Given the description of an element on the screen output the (x, y) to click on. 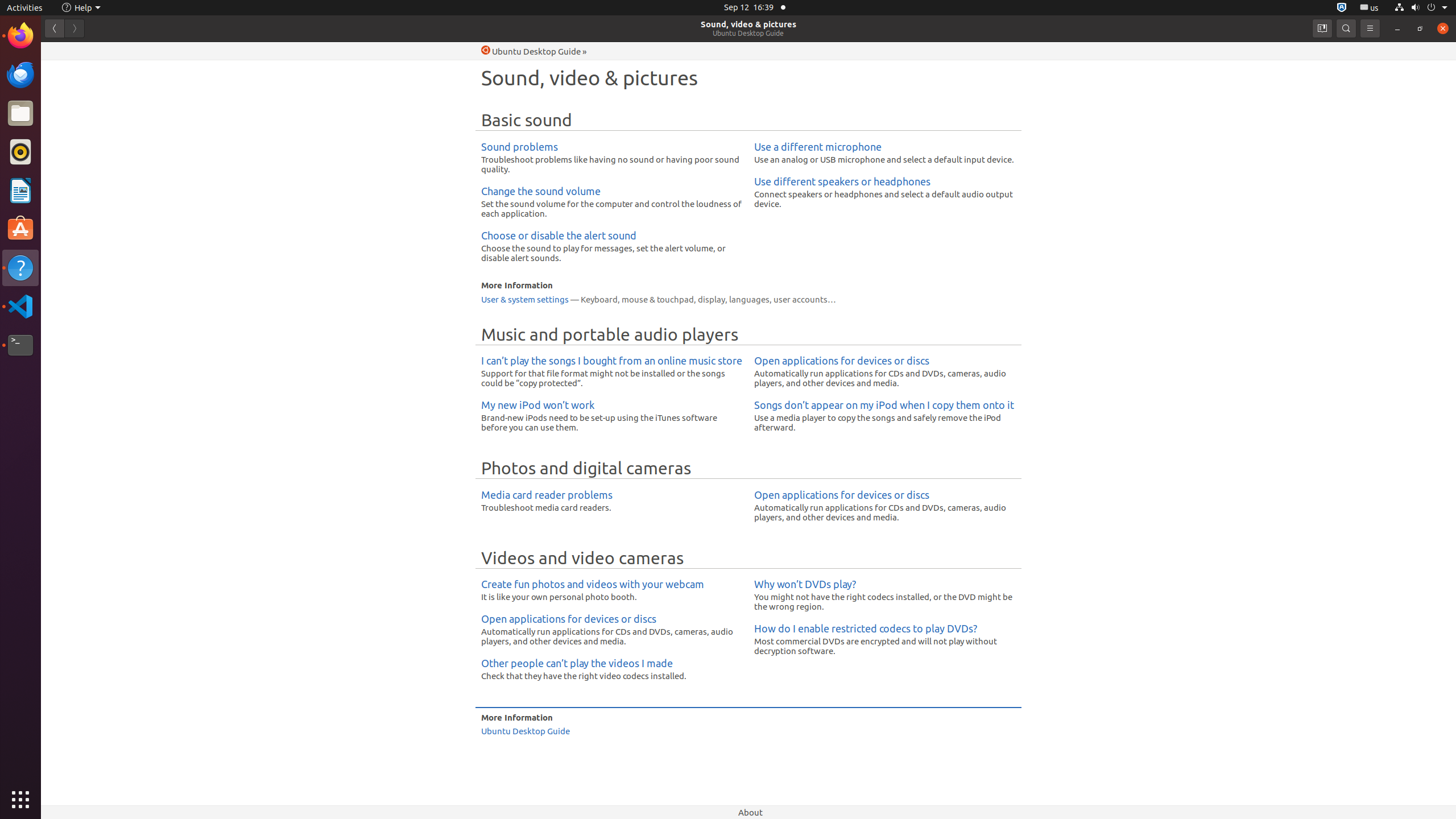
luyi1 Element type: label (75, 50)
Minimize Element type: push-button (1397, 27)
Firefox Web Browser Element type: push-button (20, 35)
Open applications for devices or discs Automatically run applications for CDs and DVDs, cameras, audio players, and other devices and media. Element type: link (884, 371)
